Given the description of an element on the screen output the (x, y) to click on. 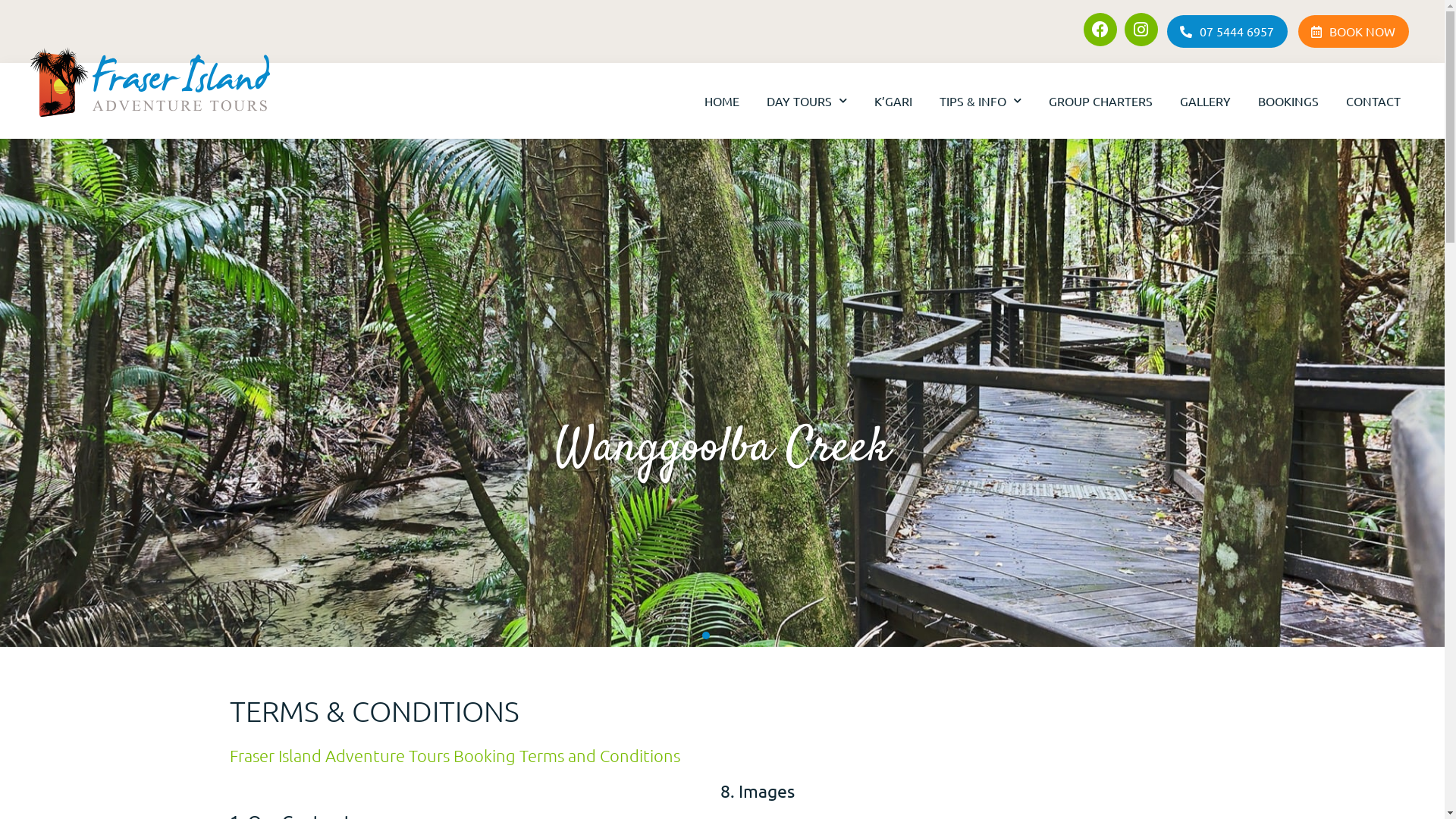
HOME Element type: text (721, 100)
CONTACT Element type: text (1373, 100)
GROUP CHARTERS Element type: text (1100, 100)
BOOK NOW Element type: text (1353, 31)
07 5444 6957 Element type: text (1227, 31)
DAY TOURS Element type: text (806, 100)
TIPS & INFO Element type: text (980, 100)
GALLERY Element type: text (1205, 100)
BOOKINGS Element type: text (1288, 100)
